Given the description of an element on the screen output the (x, y) to click on. 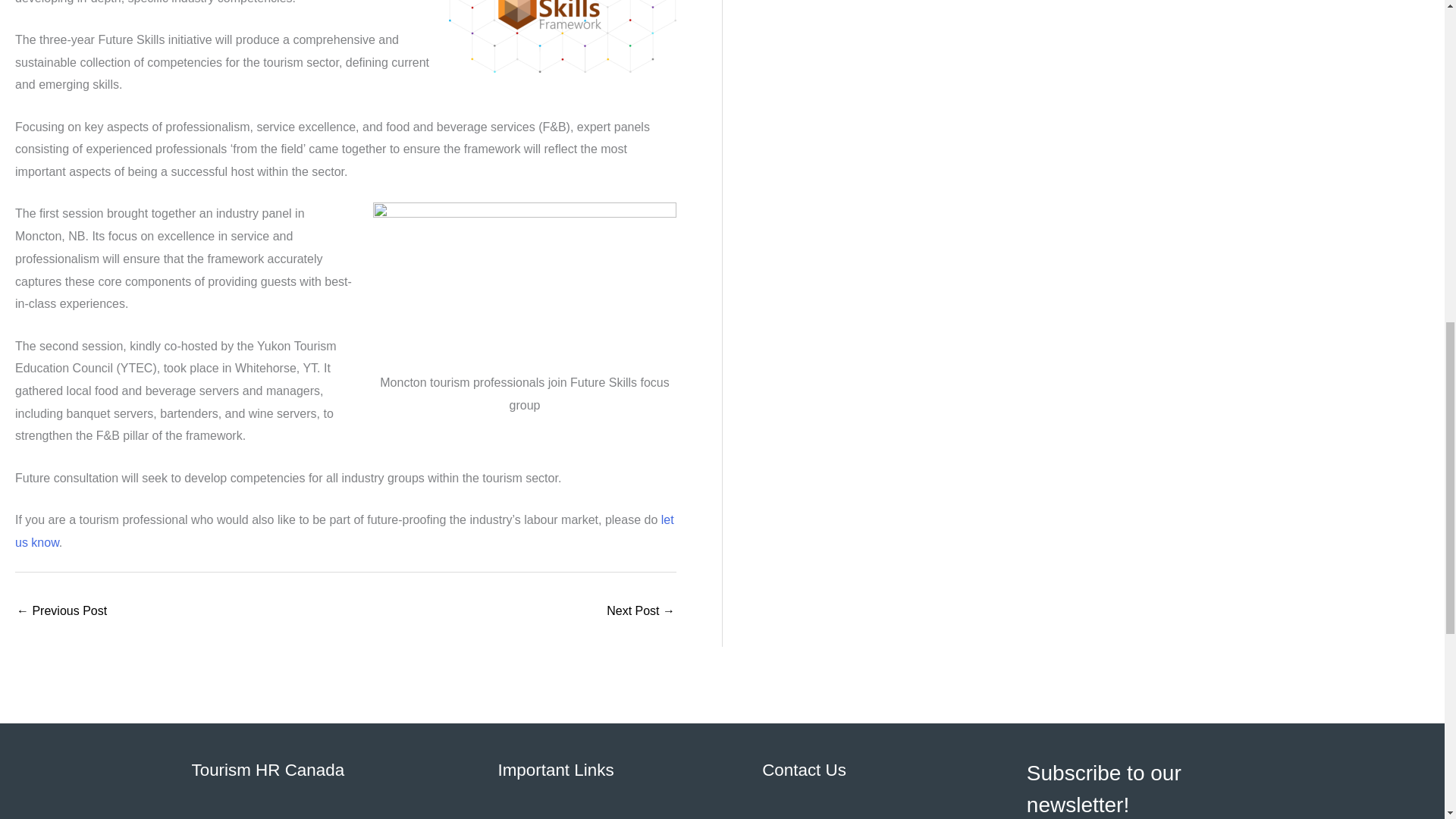
Skilling It: Exploring Education and Skill Levels in Tourism (641, 612)
